Given the description of an element on the screen output the (x, y) to click on. 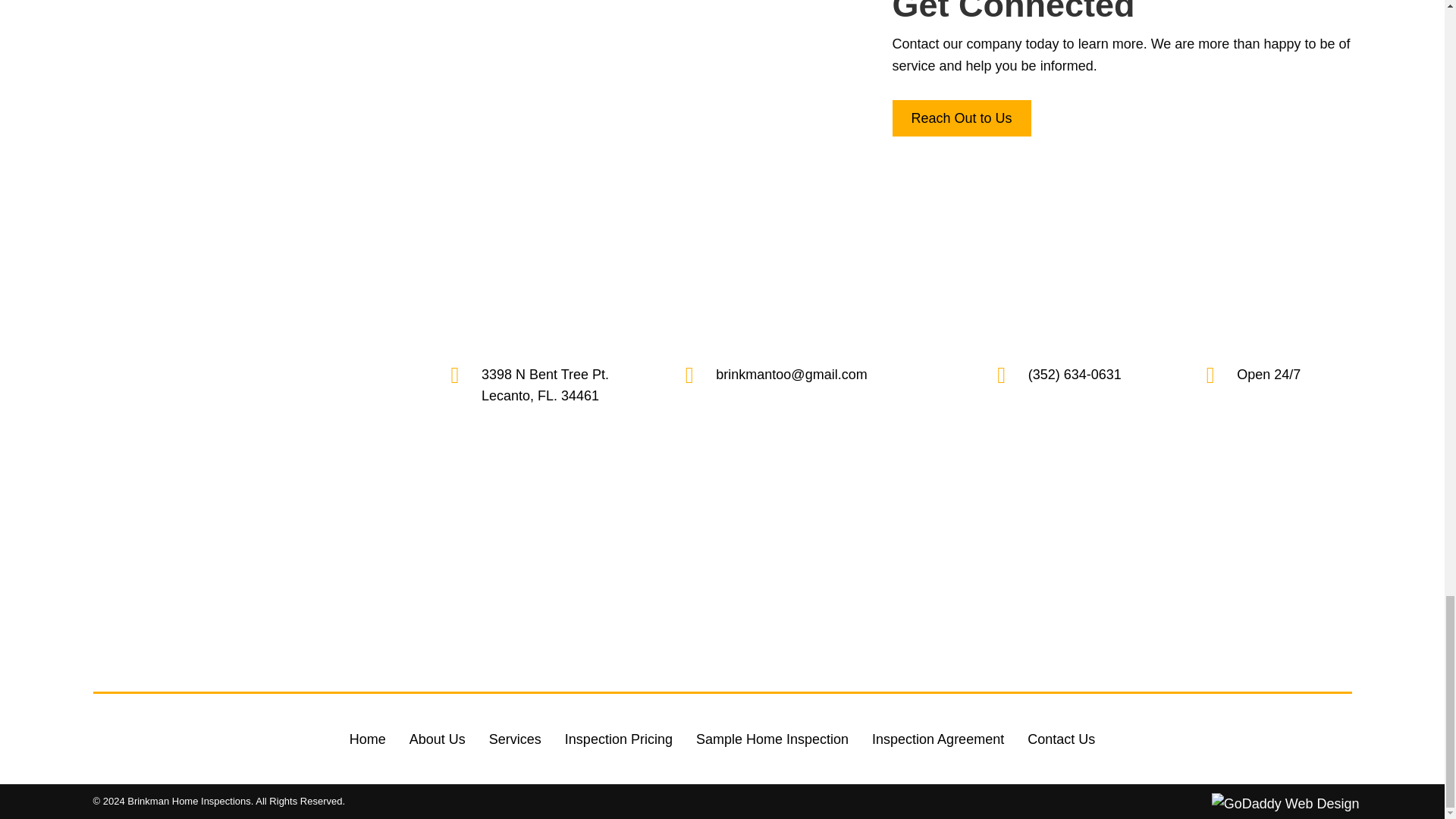
Sample Home Inspection (772, 739)
Inspection Pricing (618, 739)
Contact Us (1061, 739)
Services (515, 739)
Home (367, 739)
About Us (437, 739)
Reach Out to Us (960, 118)
Inspection Agreement (937, 739)
